Given the description of an element on the screen output the (x, y) to click on. 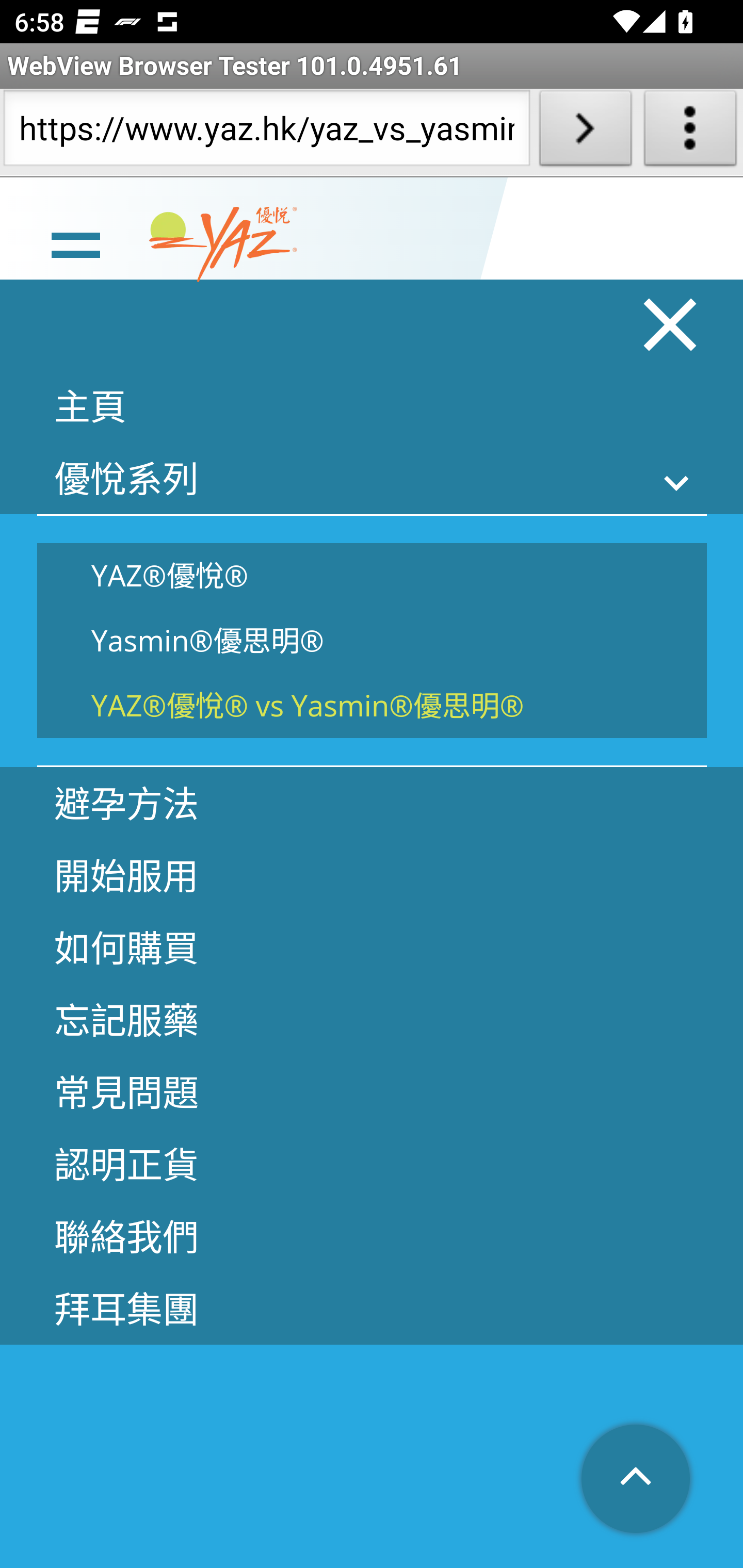
Load URL (585, 132)
About WebView (690, 132)
www.yaz (222, 244)
line Toggle burger menu (75, 242)
 Close burger menu (670, 323)
主頁 (371, 405)
優悅系列 (371, 477)
Toggle sub menu (677, 482)
YAZ®優悅® (372, 574)
Yasmin®優思明® (372, 640)
YAZ®優悅® vs Yasmin®優思明® (372, 704)
避孕方法 (371, 802)
開始服用 (371, 874)
如何購買 (371, 946)
忘記服藥 (371, 1018)
常見問題 (371, 1090)
認明正貨 (371, 1163)
聯絡我們 (371, 1235)
拜耳集團 (371, 1308)
 (636, 1480)
